Given the description of an element on the screen output the (x, y) to click on. 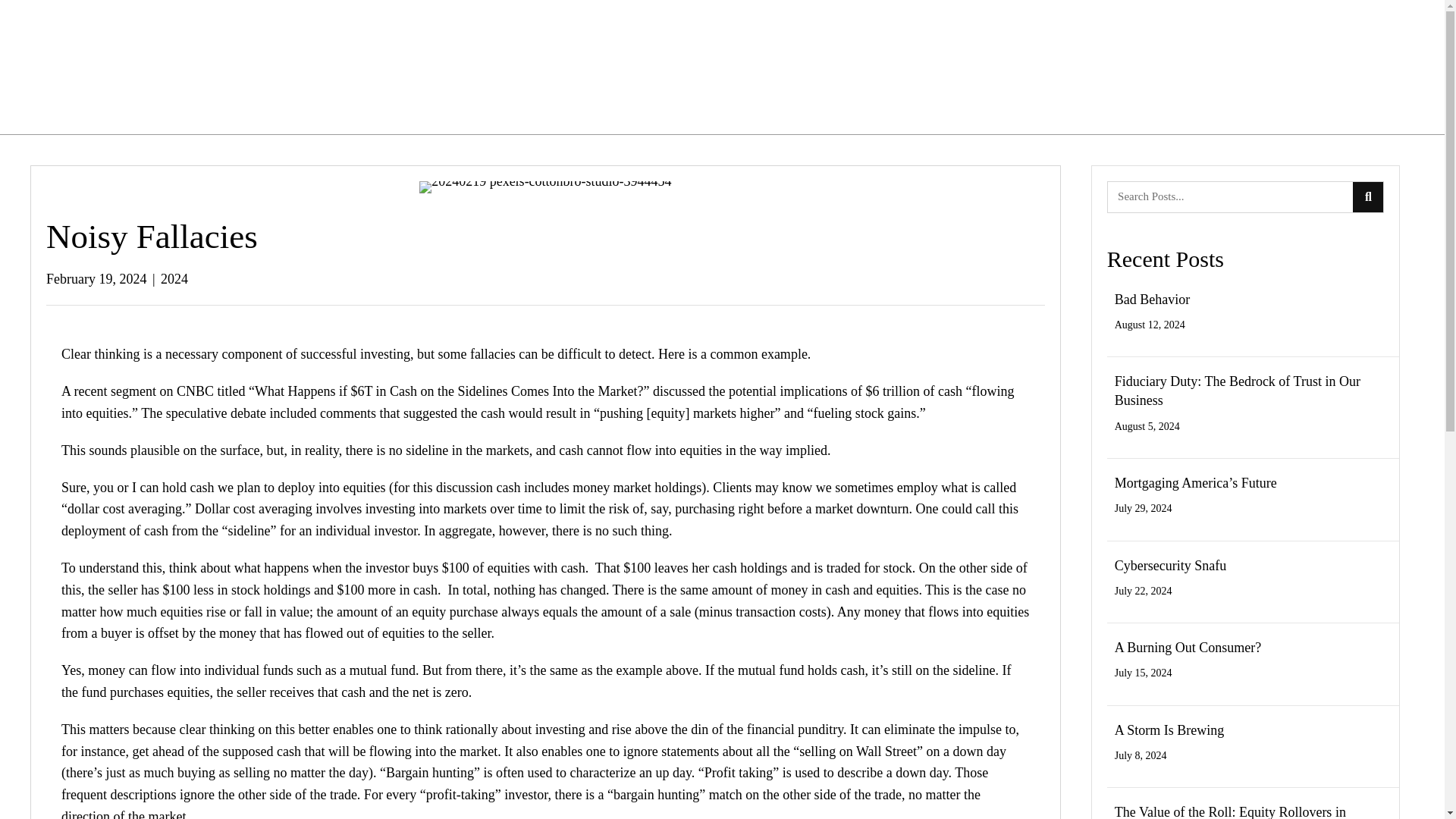
2024 (173, 278)
Search (1231, 196)
Fiduciary Duty: The Bedrock of Trust in Our Business (1237, 390)
Bad Behavior (1152, 299)
A Burning Out Consumer? (1188, 647)
The Value of the Roll: Equity Rollovers in Business Sales (1230, 811)
20240219 pexels-cottonbro-studio-3944454 (545, 186)
A Storm Is Brewing (1169, 729)
Cybersecurity Snafu (1170, 565)
